Given the description of an element on the screen output the (x, y) to click on. 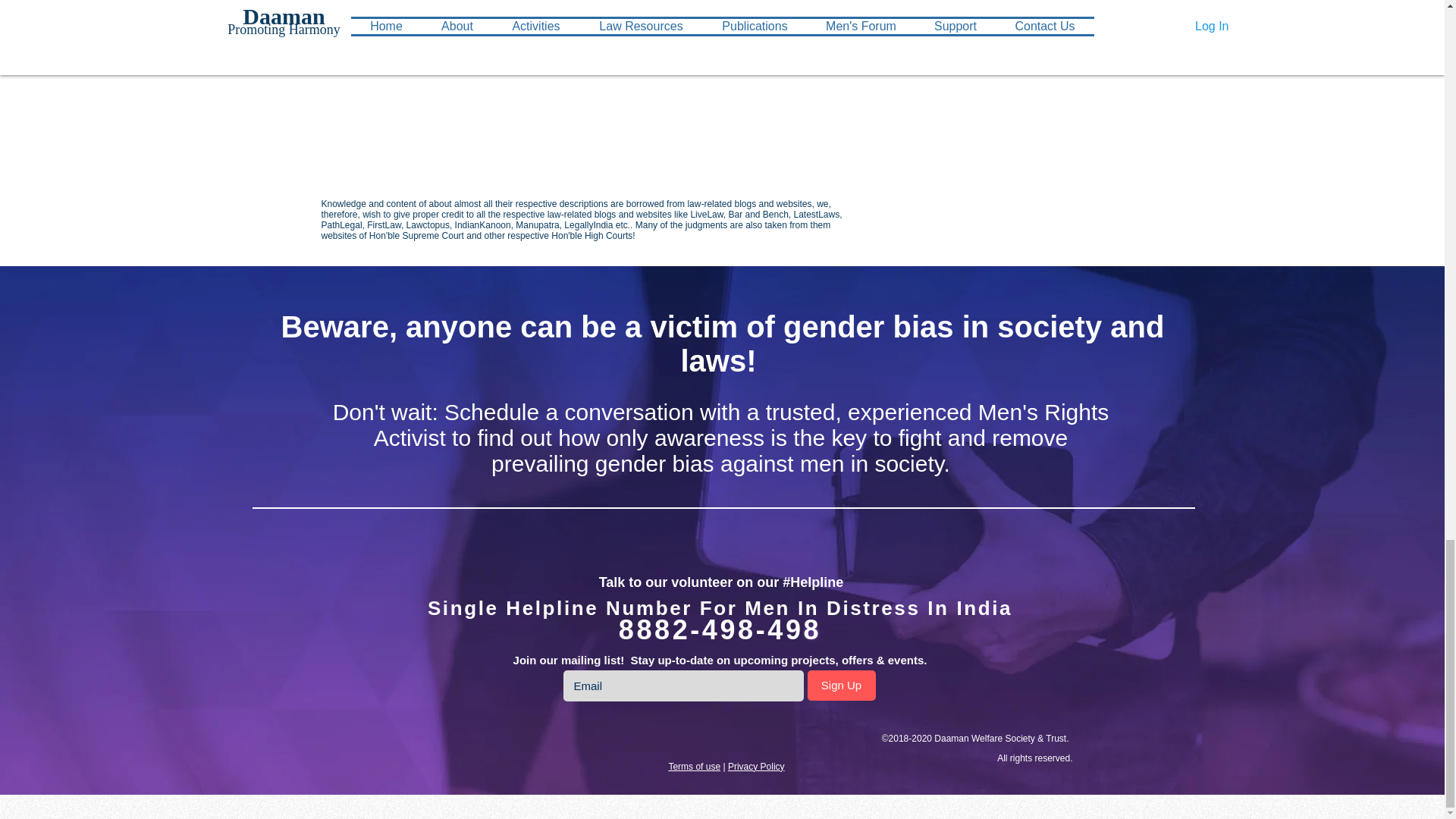
Privacy Policy (756, 766)
Sign Up (840, 685)
Terms of use (694, 766)
